Given the description of an element on the screen output the (x, y) to click on. 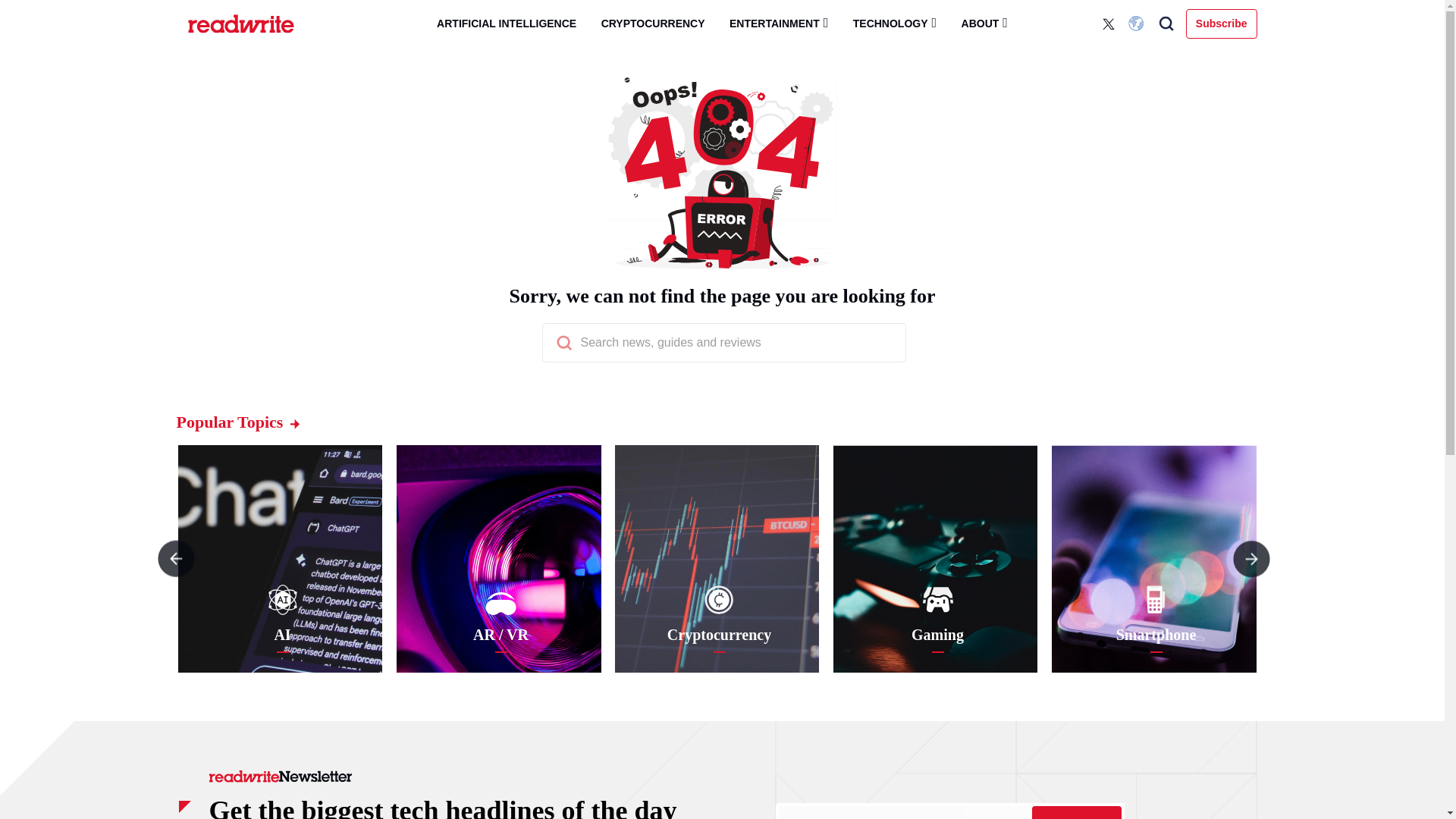
ABOUT (983, 23)
Subscribe (1221, 23)
English (1137, 23)
TECHNOLOGY (895, 23)
Subscribe (1075, 812)
CRYPTOCURRENCY (653, 23)
ARTIFICIAL INTELLIGENCE (506, 23)
ENTERTAINMENT (778, 23)
